Given the description of an element on the screen output the (x, y) to click on. 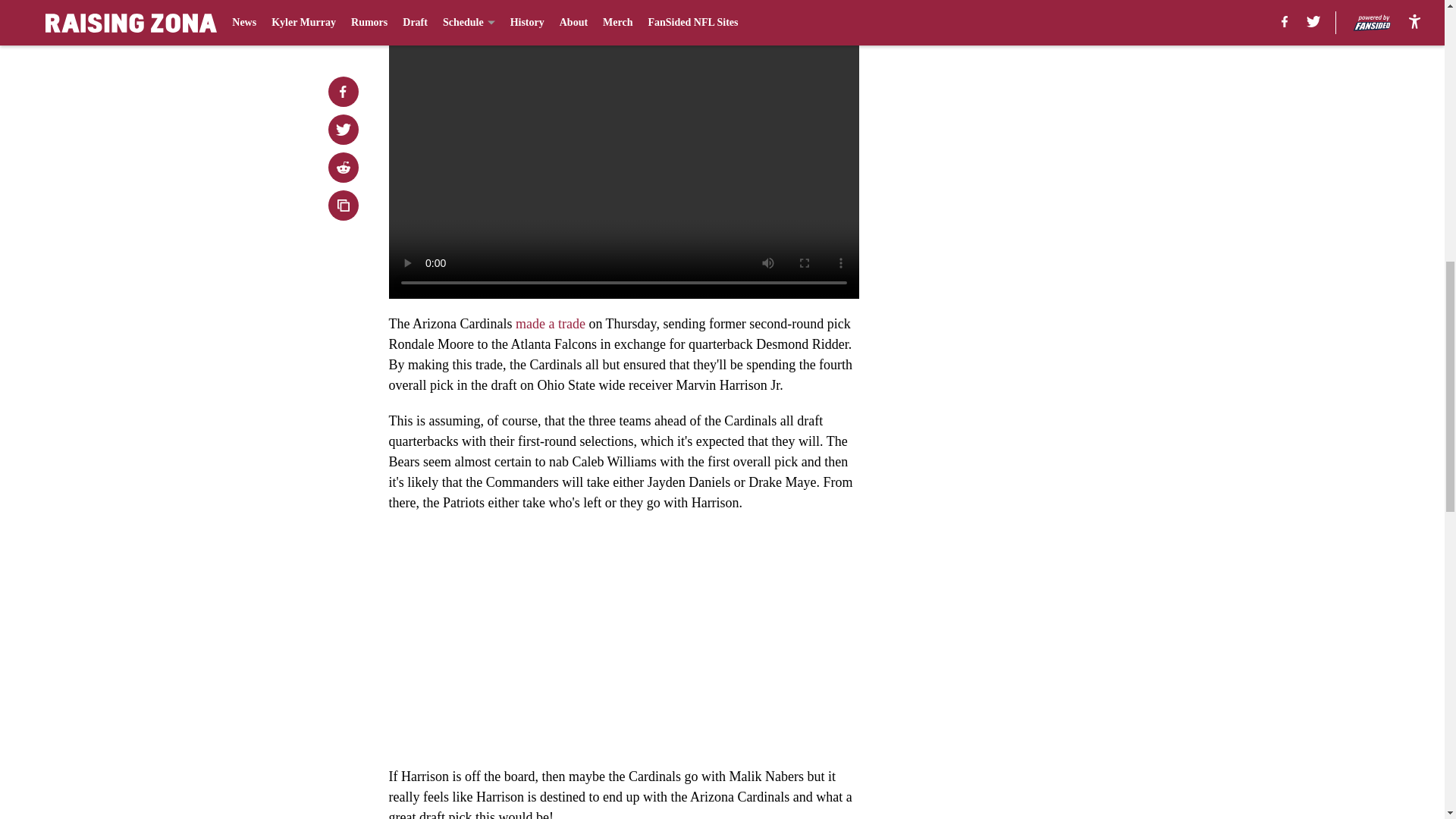
3rd party ad content (1047, 129)
3rd party ad content (1047, 349)
made a trade (550, 323)
